Given the description of an element on the screen output the (x, y) to click on. 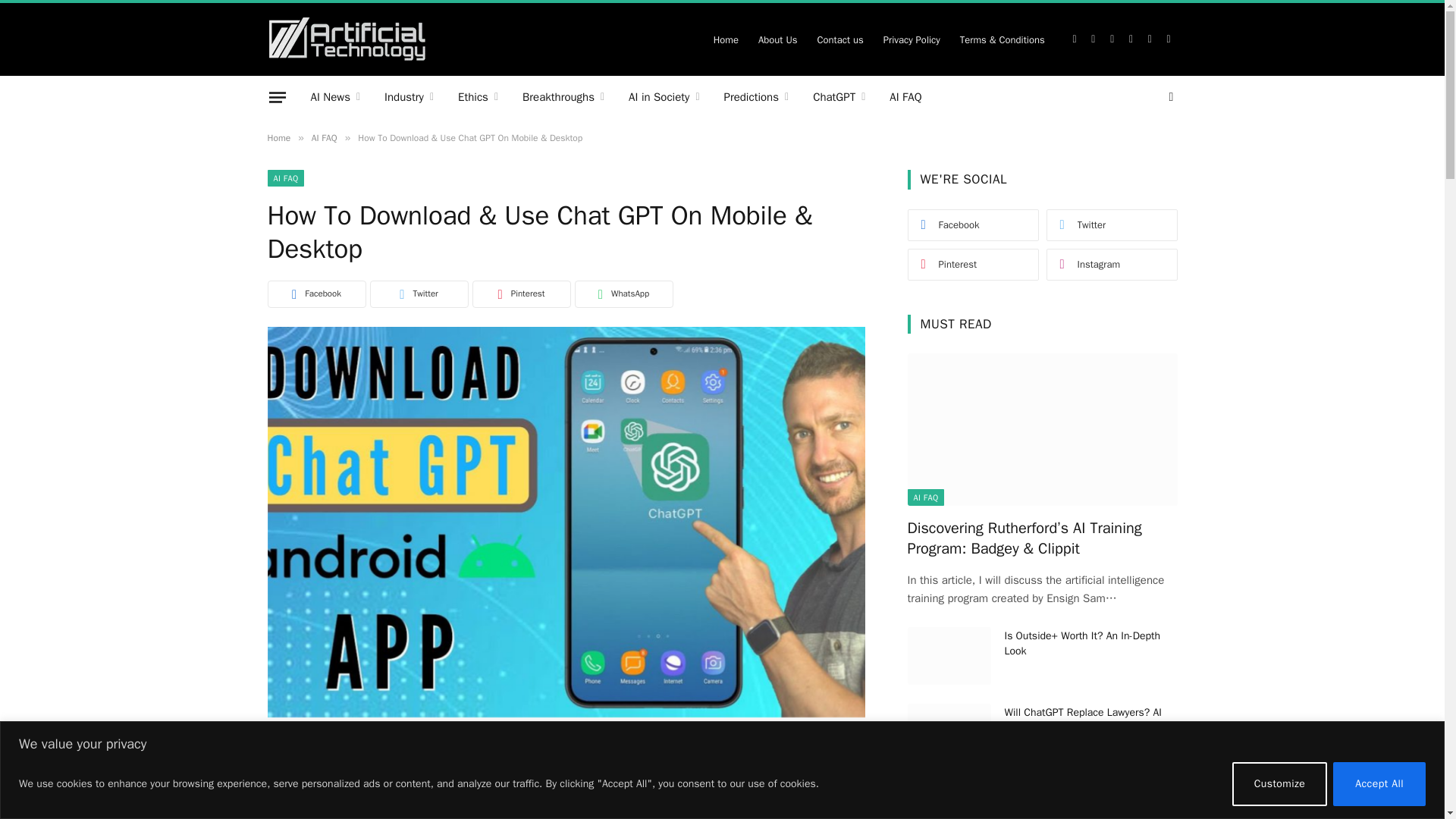
Customize (1279, 783)
Contact us (839, 39)
Privacy Policy (911, 39)
Accept All (1379, 783)
Artificial Technology (346, 39)
